Given the description of an element on the screen output the (x, y) to click on. 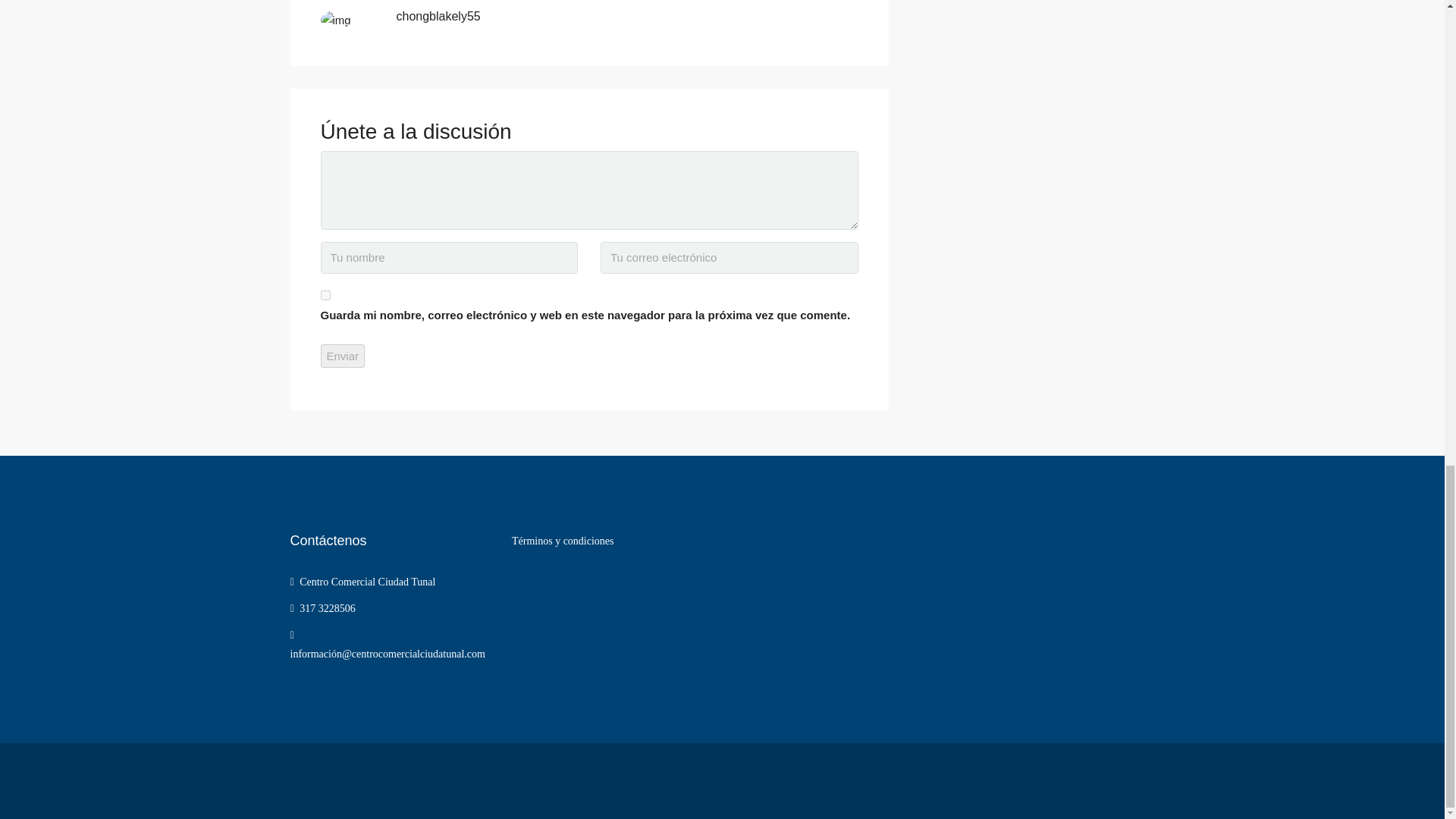
Enviar (342, 355)
yes (325, 295)
Enviar (342, 355)
